Given the description of an element on the screen output the (x, y) to click on. 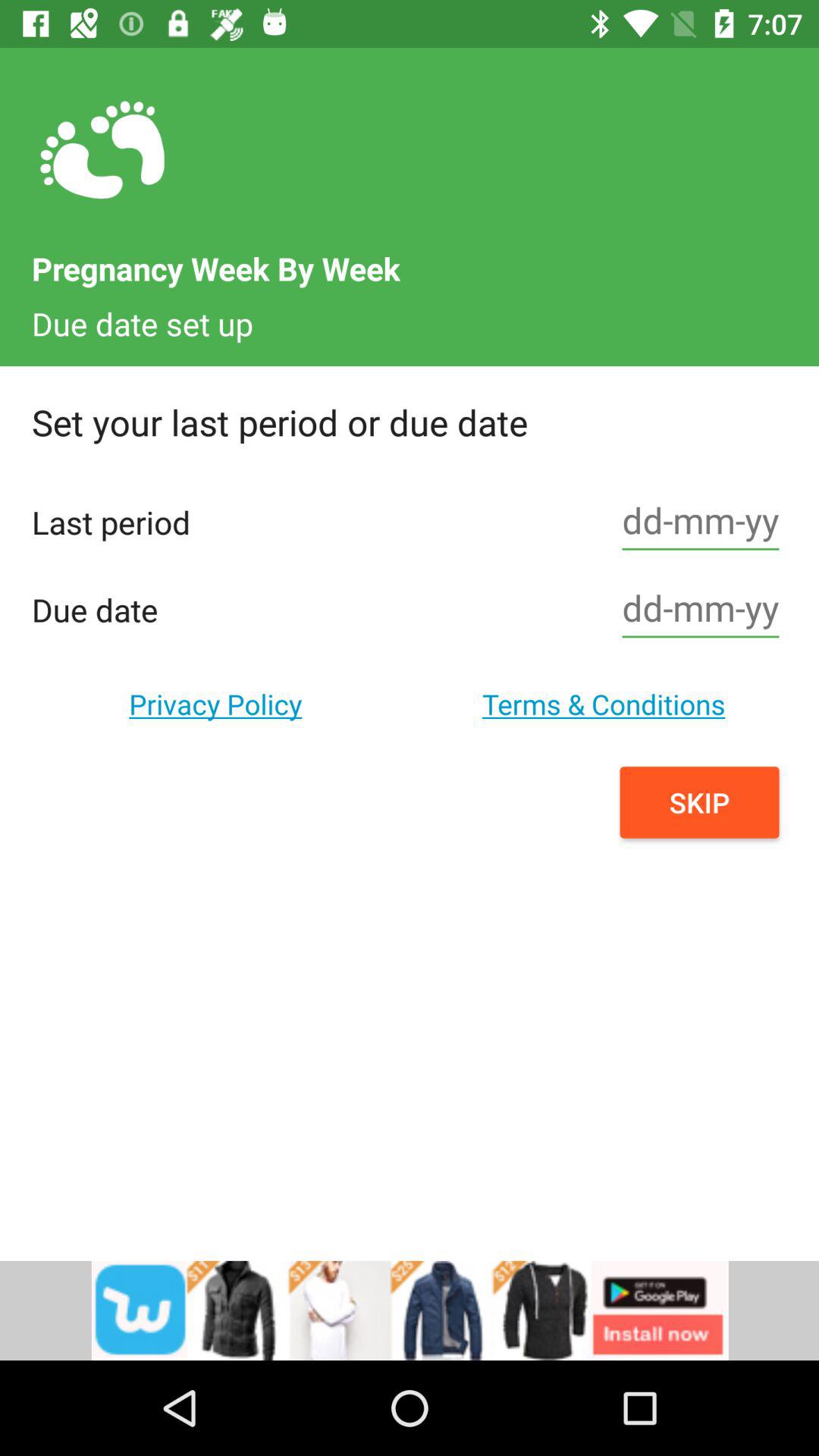
button page (700, 609)
